Given the description of an element on the screen output the (x, y) to click on. 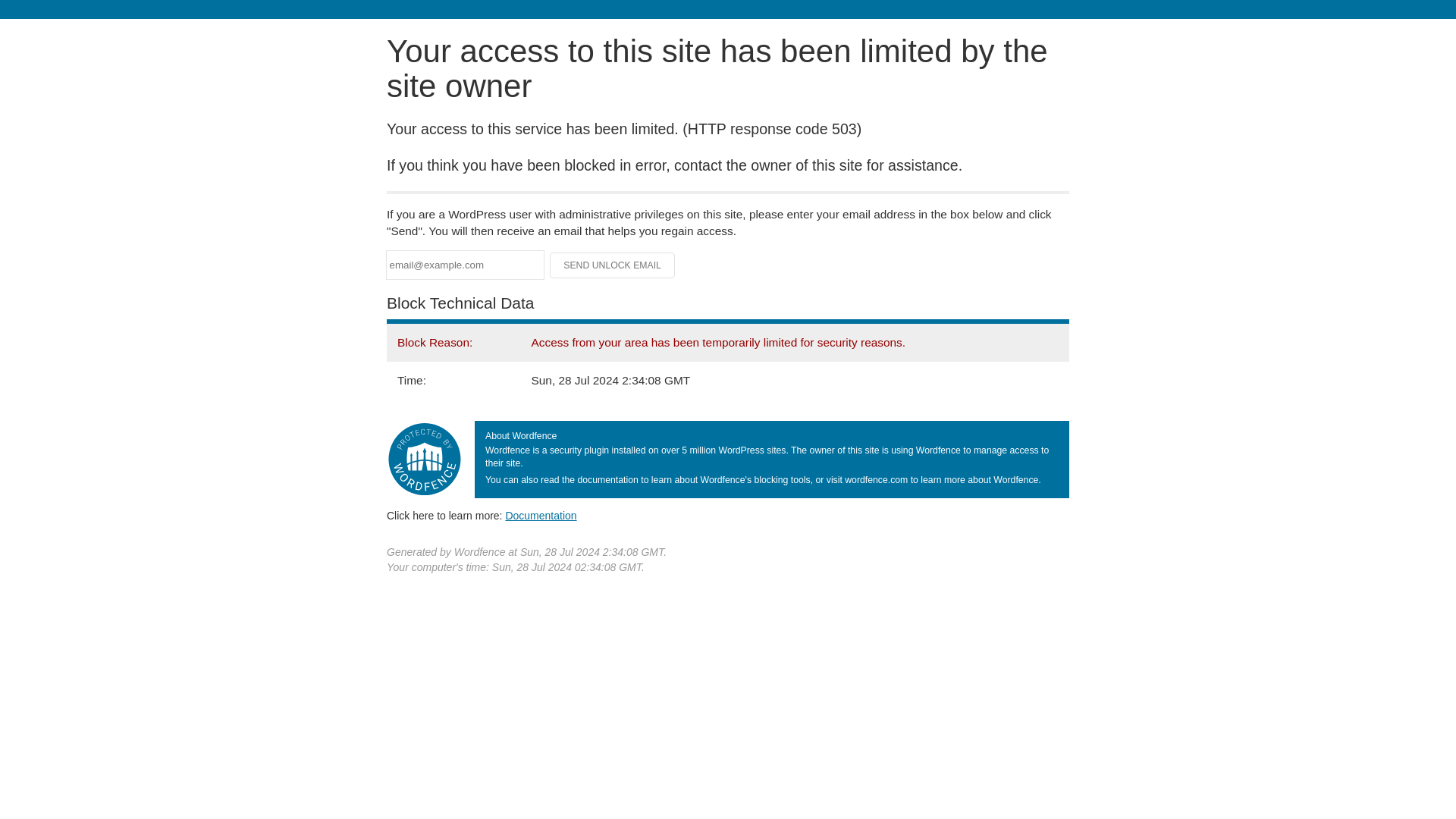
Documentation (540, 515)
Send Unlock Email (612, 265)
Send Unlock Email (612, 265)
